Given the description of an element on the screen output the (x, y) to click on. 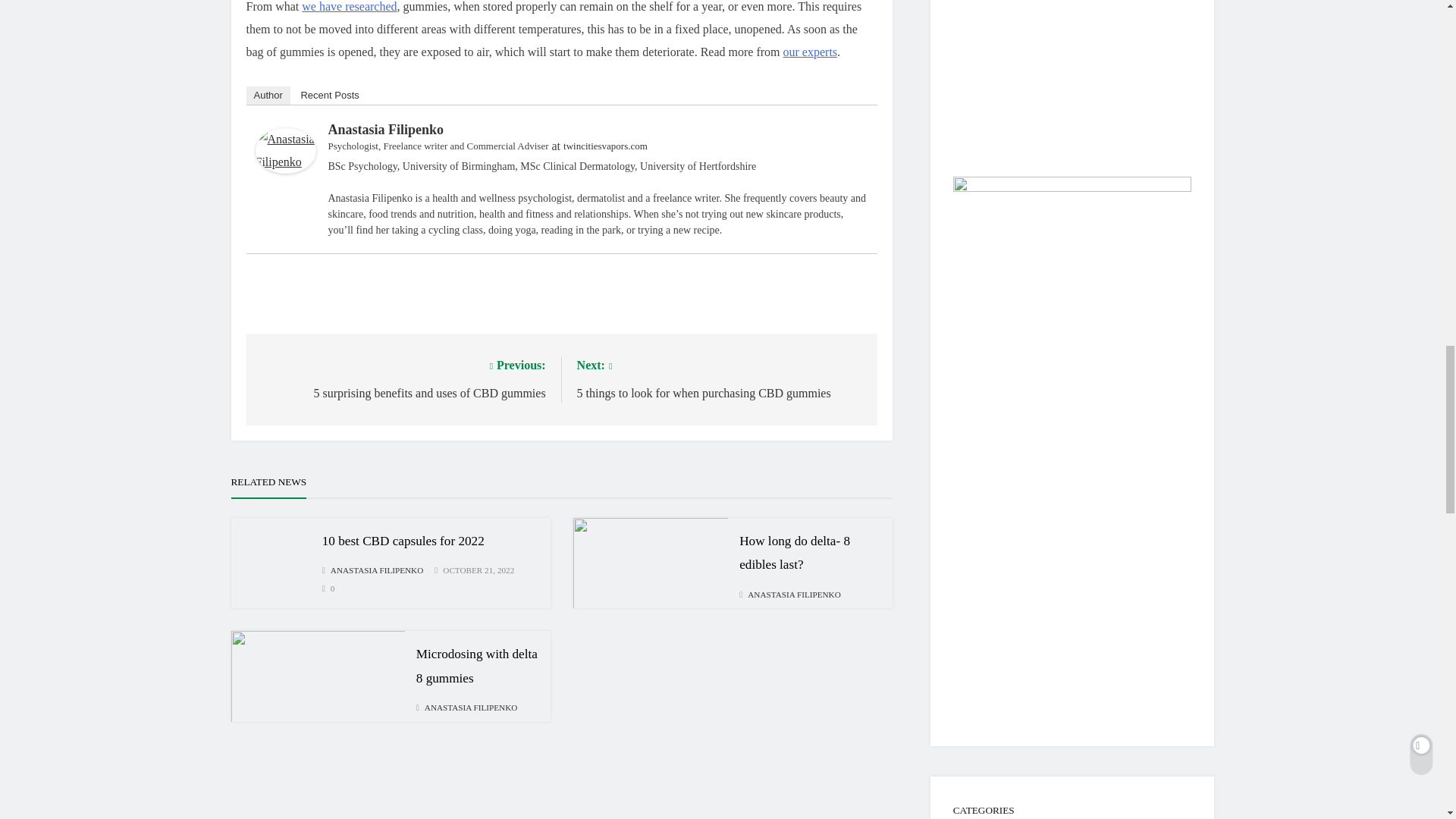
Anastasia Filipenko (284, 169)
twincitiesvapors.com (605, 145)
Recent Posts (329, 95)
our experts (402, 377)
Author (810, 51)
we have researched (267, 95)
Anastasia Filipenko (348, 6)
